Given the description of an element on the screen output the (x, y) to click on. 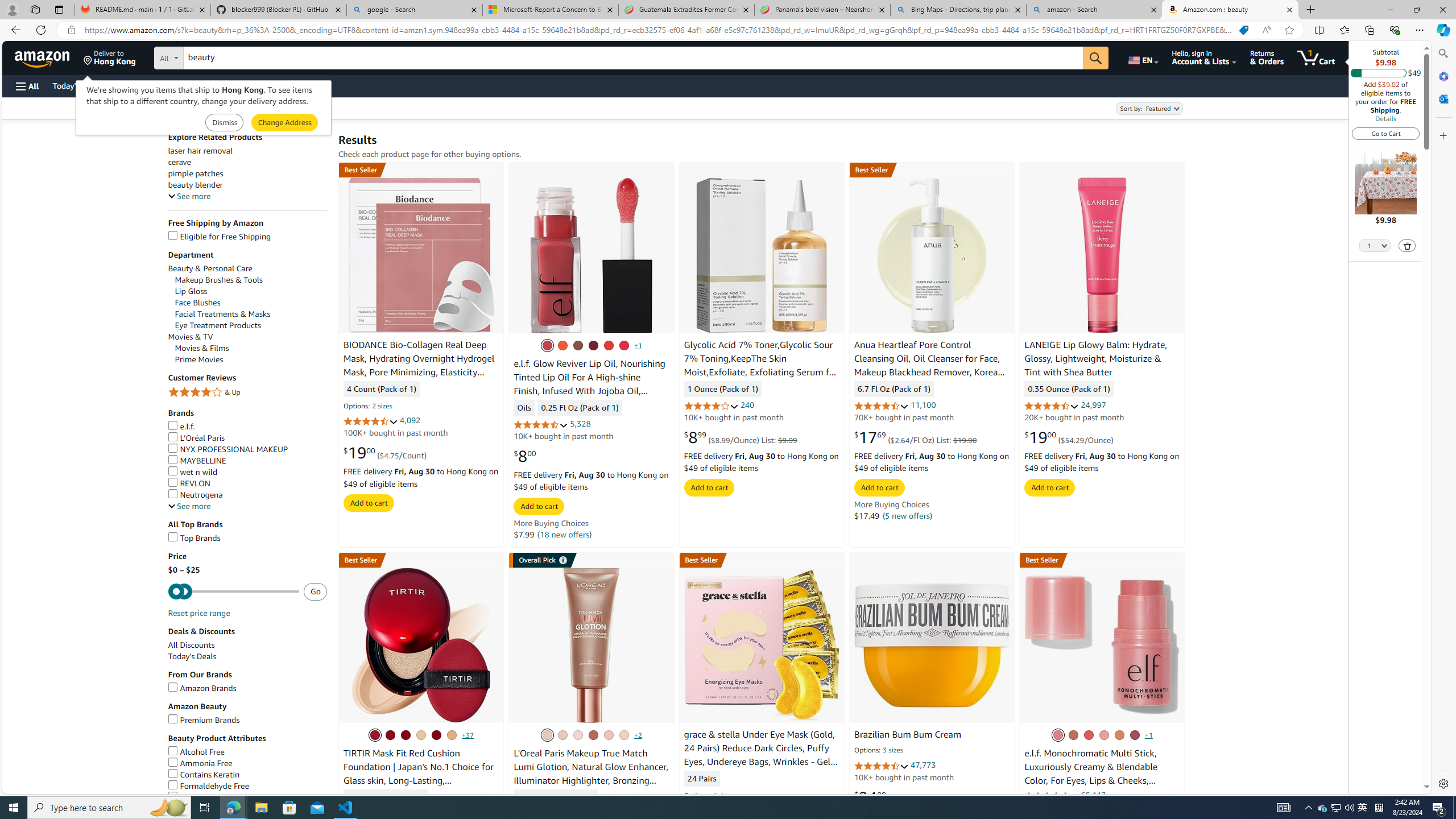
Top Brands (194, 537)
Makeup Brushes & Tools (250, 280)
Today's Deals (191, 656)
4 Stars & Up& Up (247, 392)
Coral Fixation (562, 344)
Choose a language for shopping. (1142, 57)
laser hair removal (199, 150)
Top Brands (247, 537)
Today's Deals (247, 656)
4.4 out of 5 stars (370, 421)
4.7 out of 5 stars (1051, 405)
